Given the description of an element on the screen output the (x, y) to click on. 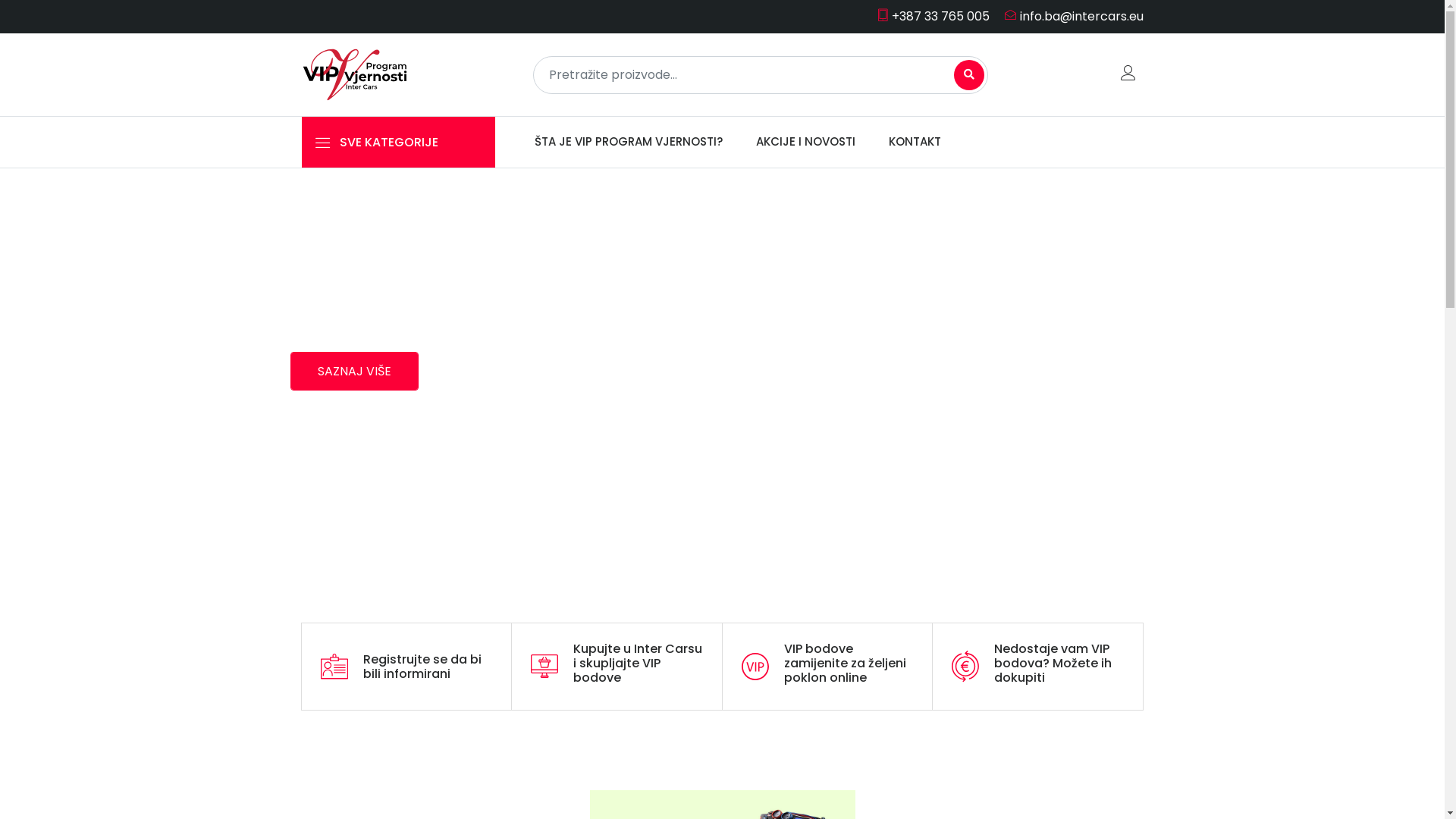
AKCIJE I NOVOSTI Element type: text (804, 141)
info.ba@intercars.eu Element type: text (1066, 16)
KONTAKT Element type: text (914, 141)
+387 33 765 005 Element type: text (932, 16)
SVE KATEGORIJE  Element type: text (398, 141)
VIP Premia - Inter Cars Element type: text (354, 74)
